Given the description of an element on the screen output the (x, y) to click on. 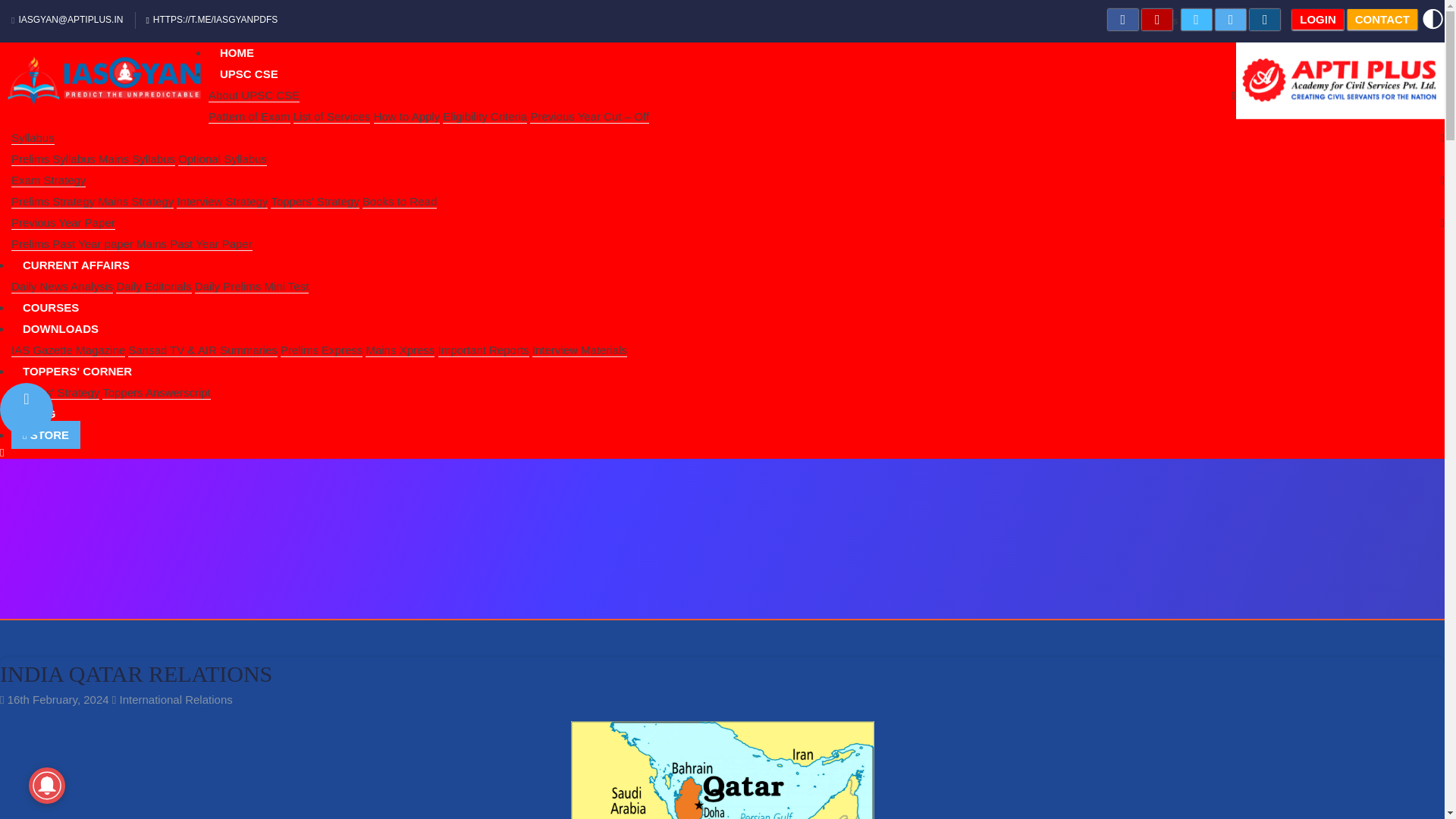
Pattern of Exam (248, 116)
Mains Syllabus (136, 159)
Eligibility Criteria (484, 116)
Interview Strategy (221, 201)
Optional Syllabus (221, 159)
Prelims Syllabus (55, 159)
COURSES (50, 307)
Mains Strategy (135, 201)
CONTACT (1382, 19)
Prelims Past Year paper (73, 243)
UPSC CSE (248, 73)
Daily Editorials (153, 286)
DOWNLOADS (60, 328)
Syllabus (33, 137)
HOME (236, 52)
